Given the description of an element on the screen output the (x, y) to click on. 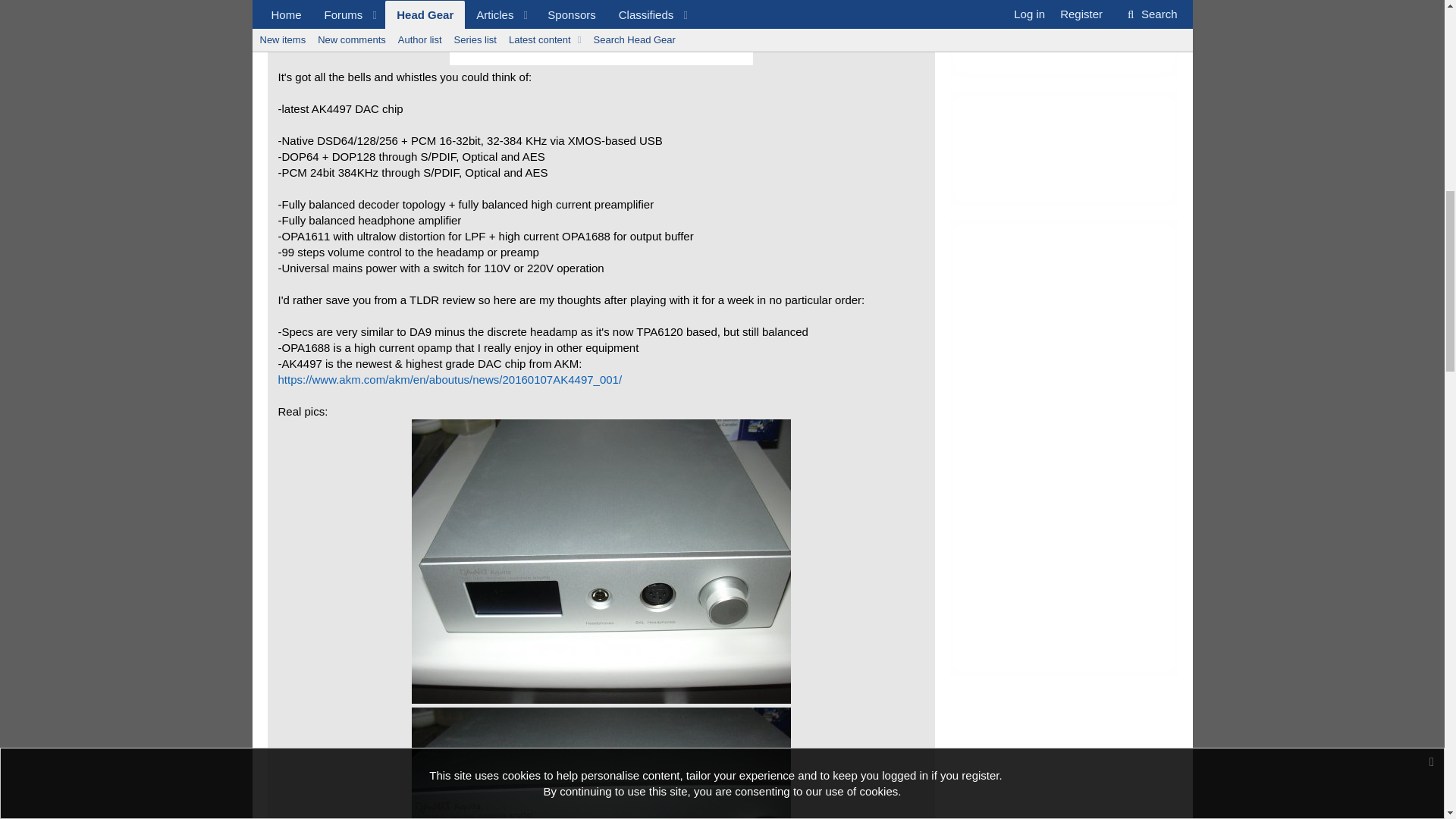
DSCN0141.JPG (600, 763)
3rd party ad content (1062, 148)
3rd party ad content (1062, 38)
DSCN0139.JPG (600, 561)
